Given the description of an element on the screen output the (x, y) to click on. 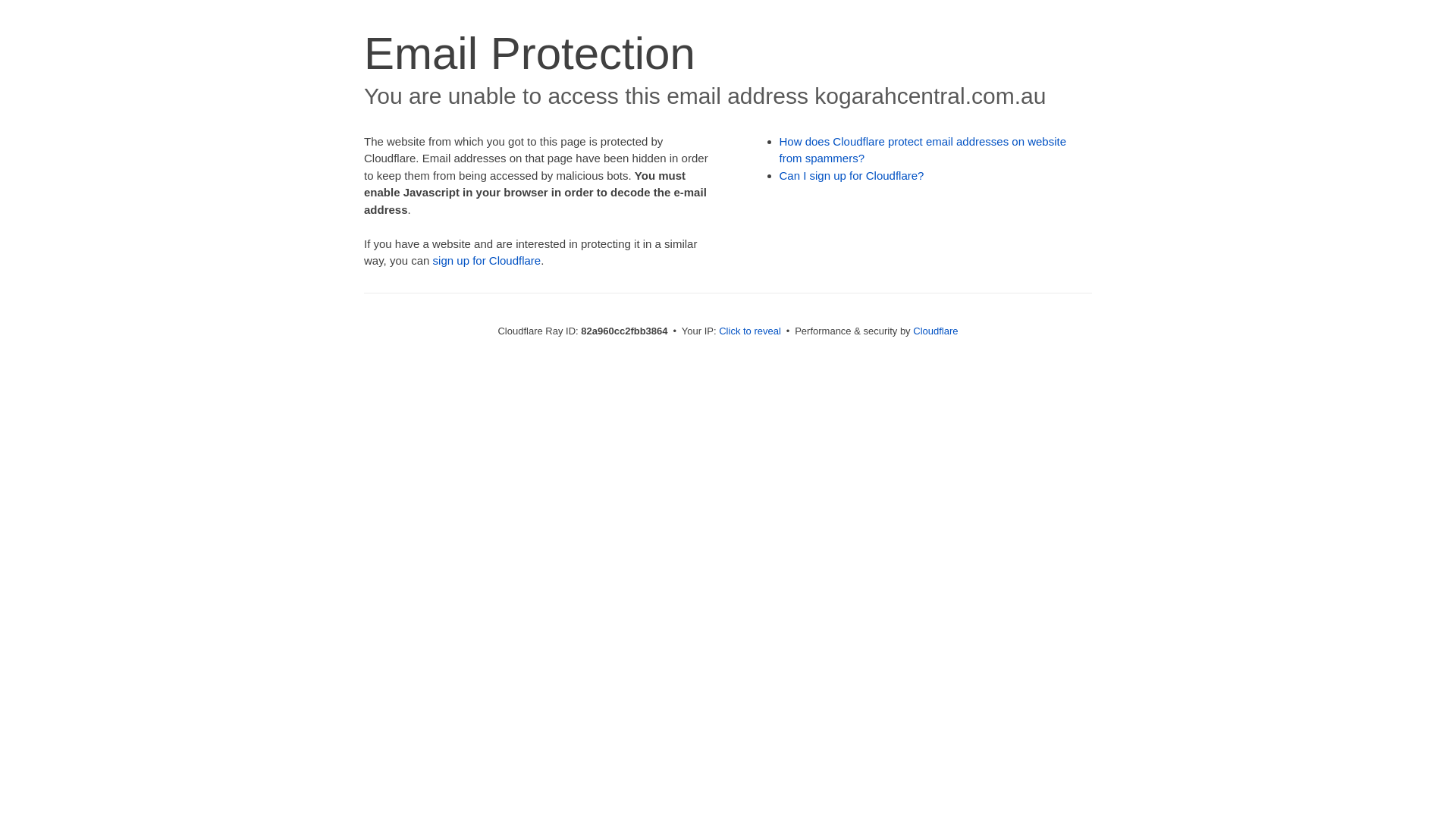
Can I sign up for Cloudflare? Element type: text (851, 175)
sign up for Cloudflare Element type: text (487, 260)
Click to reveal Element type: text (749, 330)
Cloudflare Element type: text (935, 330)
